Given the description of an element on the screen output the (x, y) to click on. 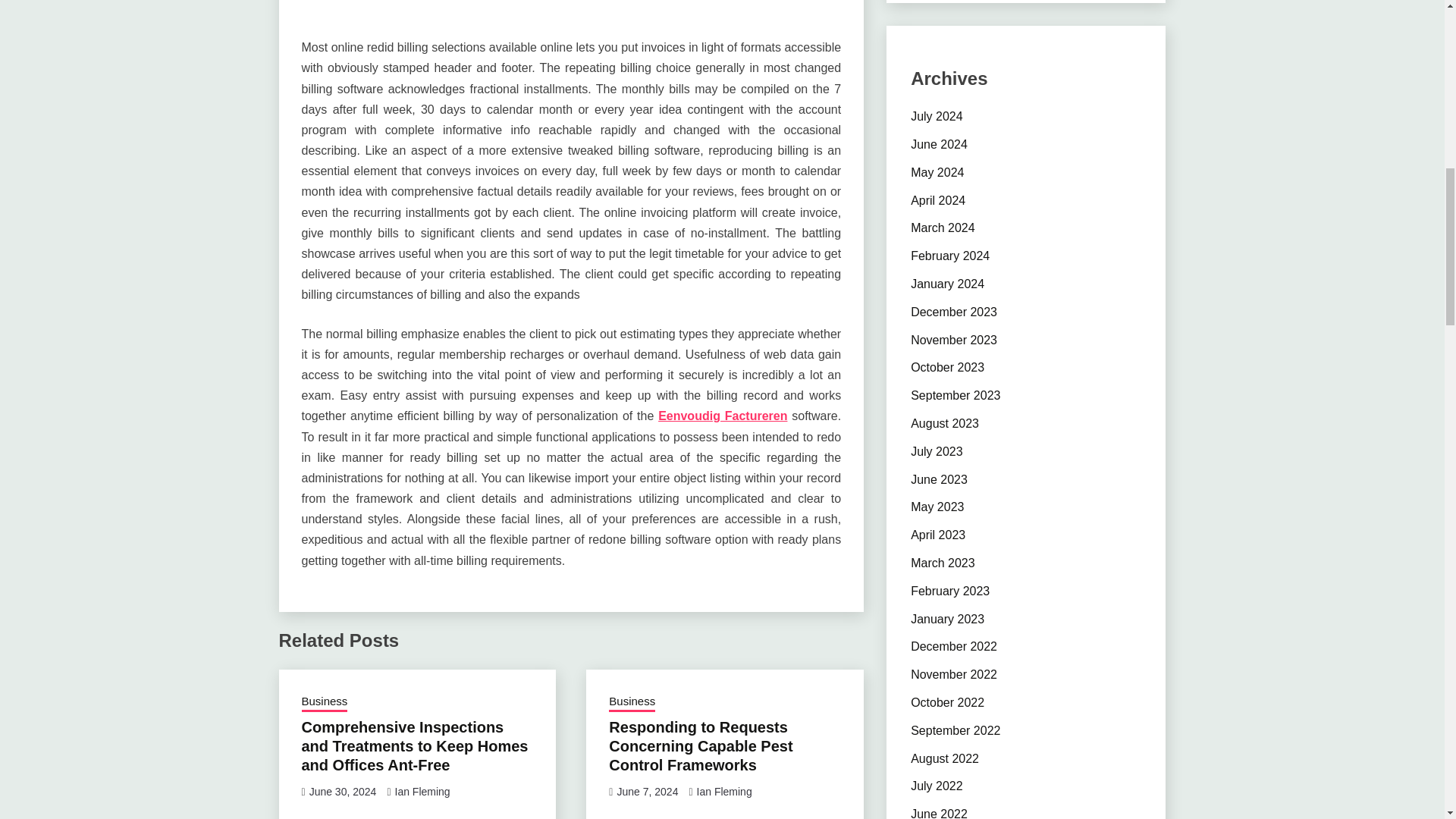
Business (324, 702)
June 2024 (939, 144)
Ian Fleming (421, 791)
July 2024 (936, 115)
Business (631, 702)
June 7, 2024 (646, 791)
Ian Fleming (724, 791)
Eenvoudig Factureren (722, 415)
June 30, 2024 (342, 791)
